Given the description of an element on the screen output the (x, y) to click on. 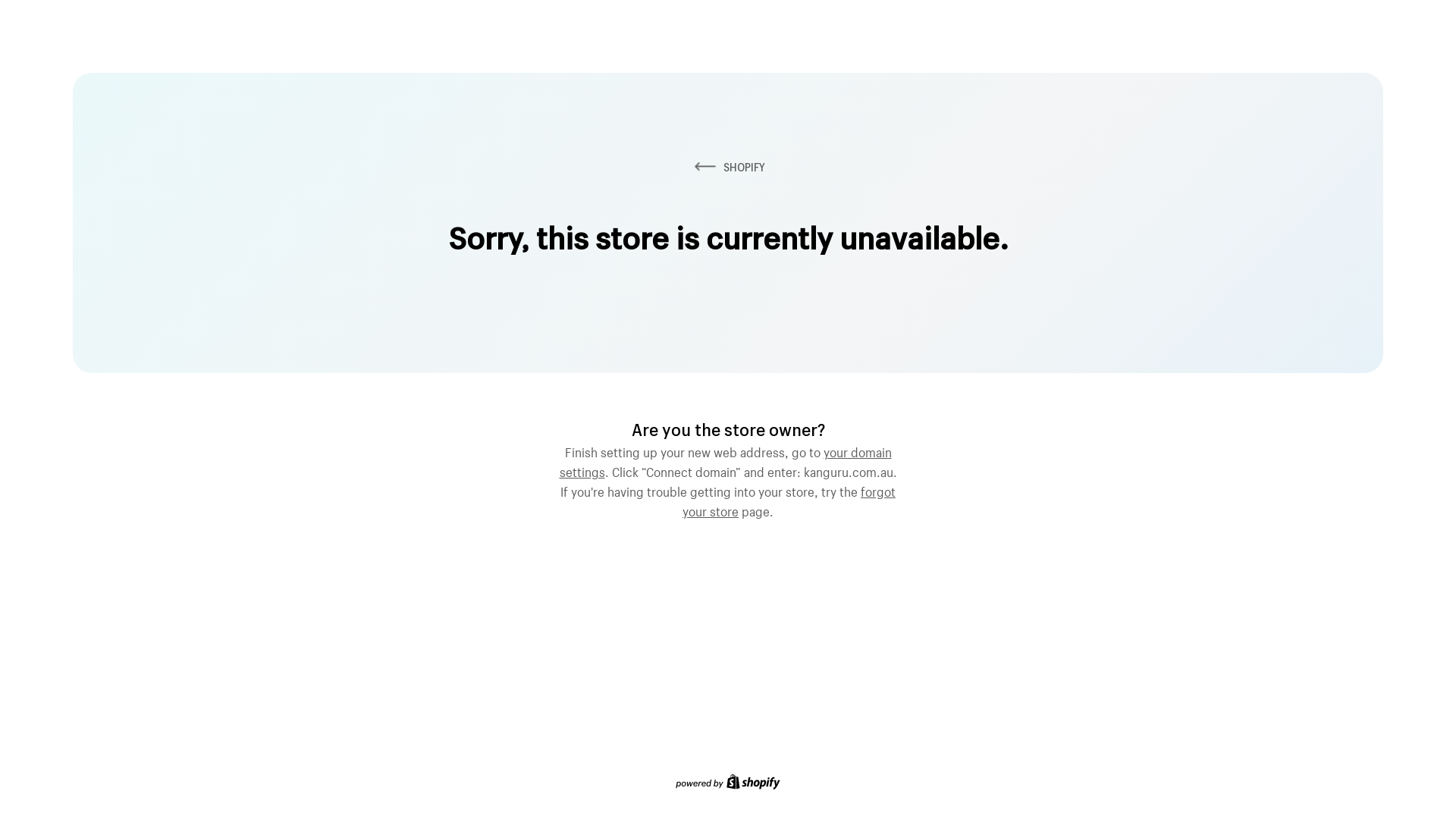
SHOPIFY Element type: text (727, 167)
forgot your store Element type: text (788, 499)
your domain settings Element type: text (725, 460)
